Given the description of an element on the screen output the (x, y) to click on. 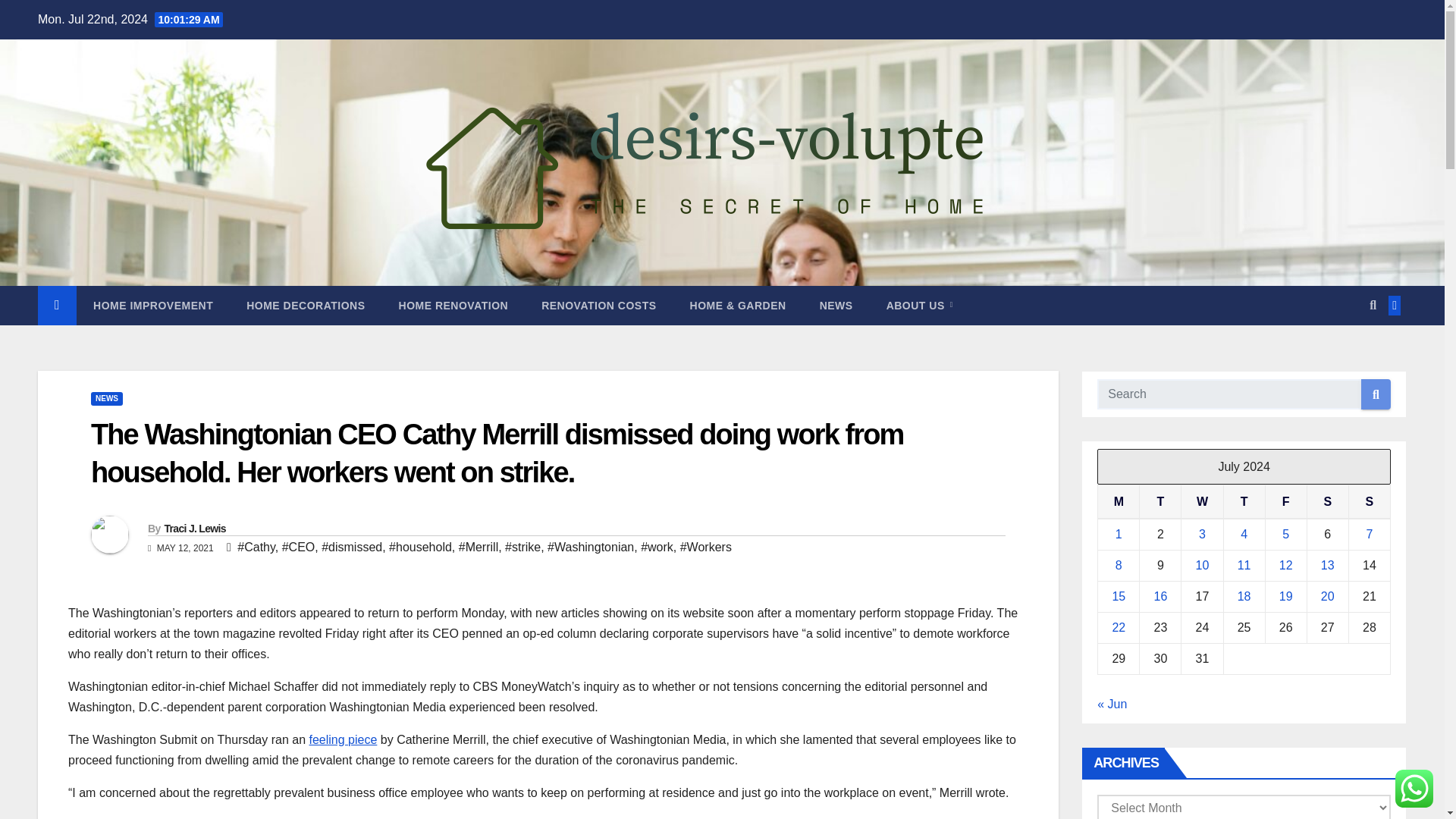
Traci J. Lewis (194, 528)
Home renovation (453, 305)
ABOUT US (919, 305)
Home Improvement (153, 305)
NEWS (836, 305)
HOME RENOVATION (453, 305)
HOME DECORATIONS (305, 305)
RENOVATION COSTS (598, 305)
About Us (919, 305)
HOME IMPROVEMENT (153, 305)
renovation costs (598, 305)
Home Decorations (305, 305)
NEWS (106, 398)
